Given the description of an element on the screen output the (x, y) to click on. 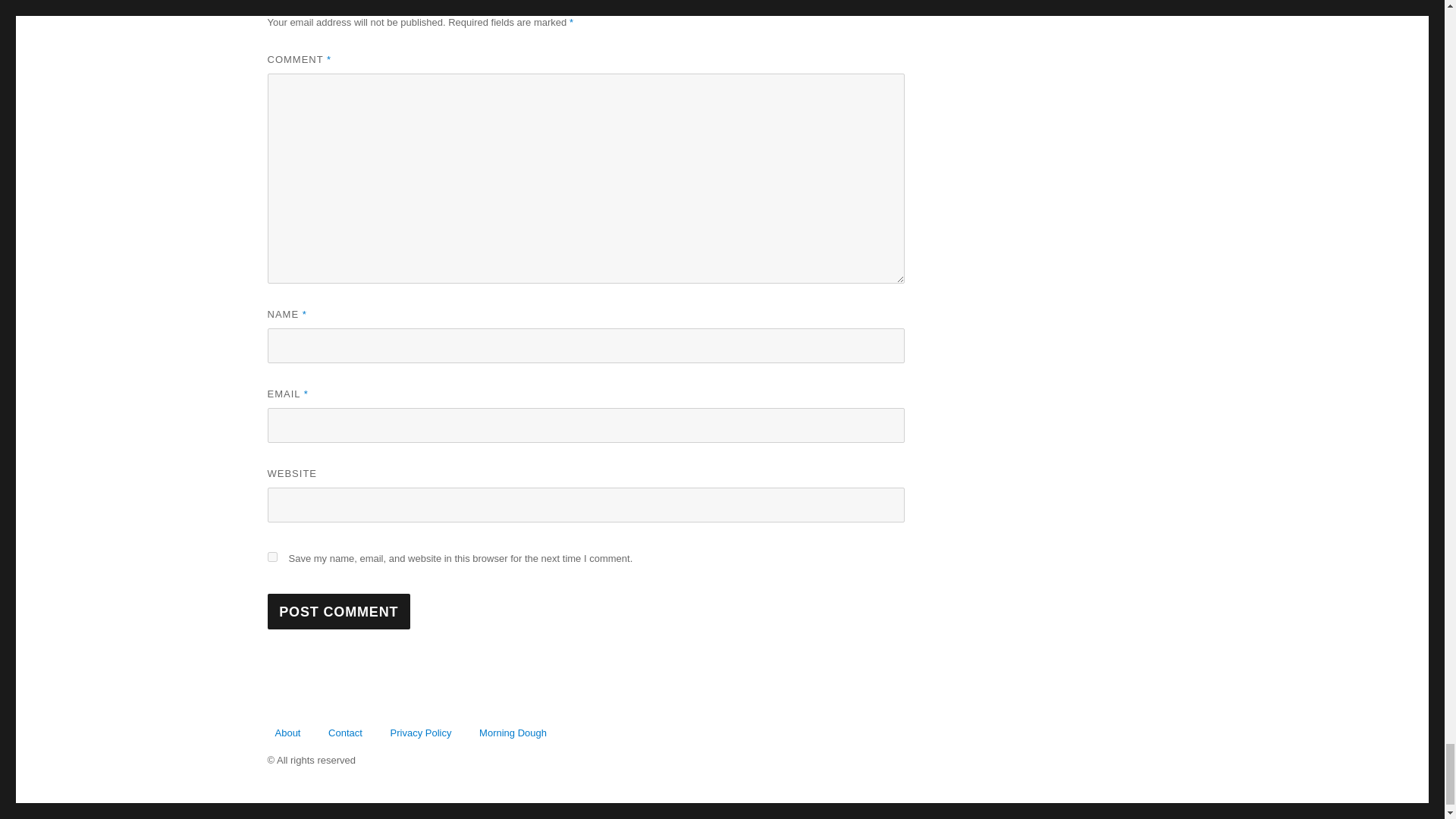
Post Comment (338, 611)
yes (271, 556)
Post Comment (338, 611)
